Given the description of an element on the screen output the (x, y) to click on. 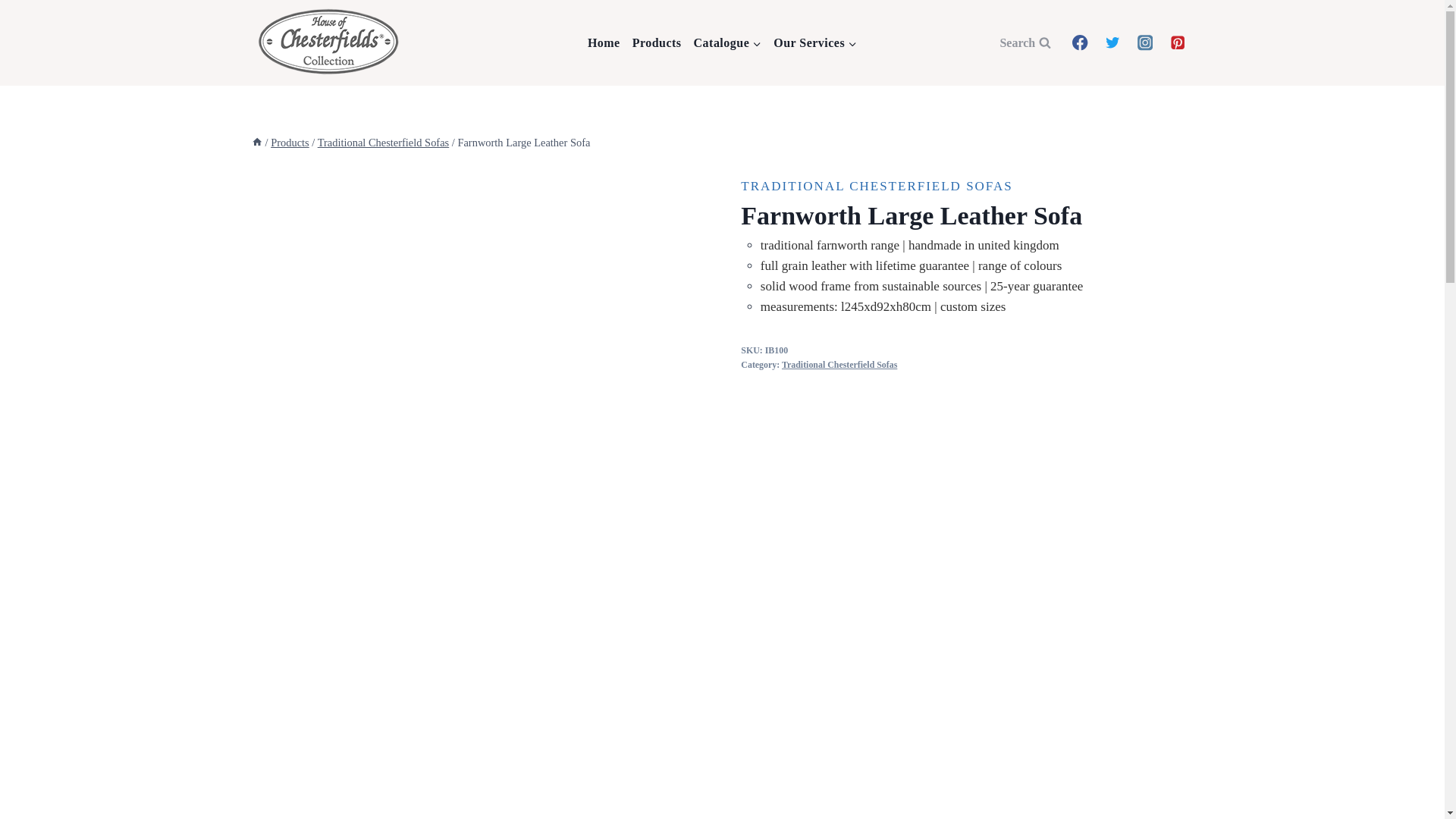
TRADITIONAL CHESTERFIELD SOFAS (876, 186)
Traditional Chesterfield Sofas (838, 364)
Traditional Chesterfield Sofas (383, 142)
Home (603, 43)
Search (1024, 42)
Our Services (815, 43)
Catalogue (727, 43)
Products (289, 142)
Products (656, 43)
